Given the description of an element on the screen output the (x, y) to click on. 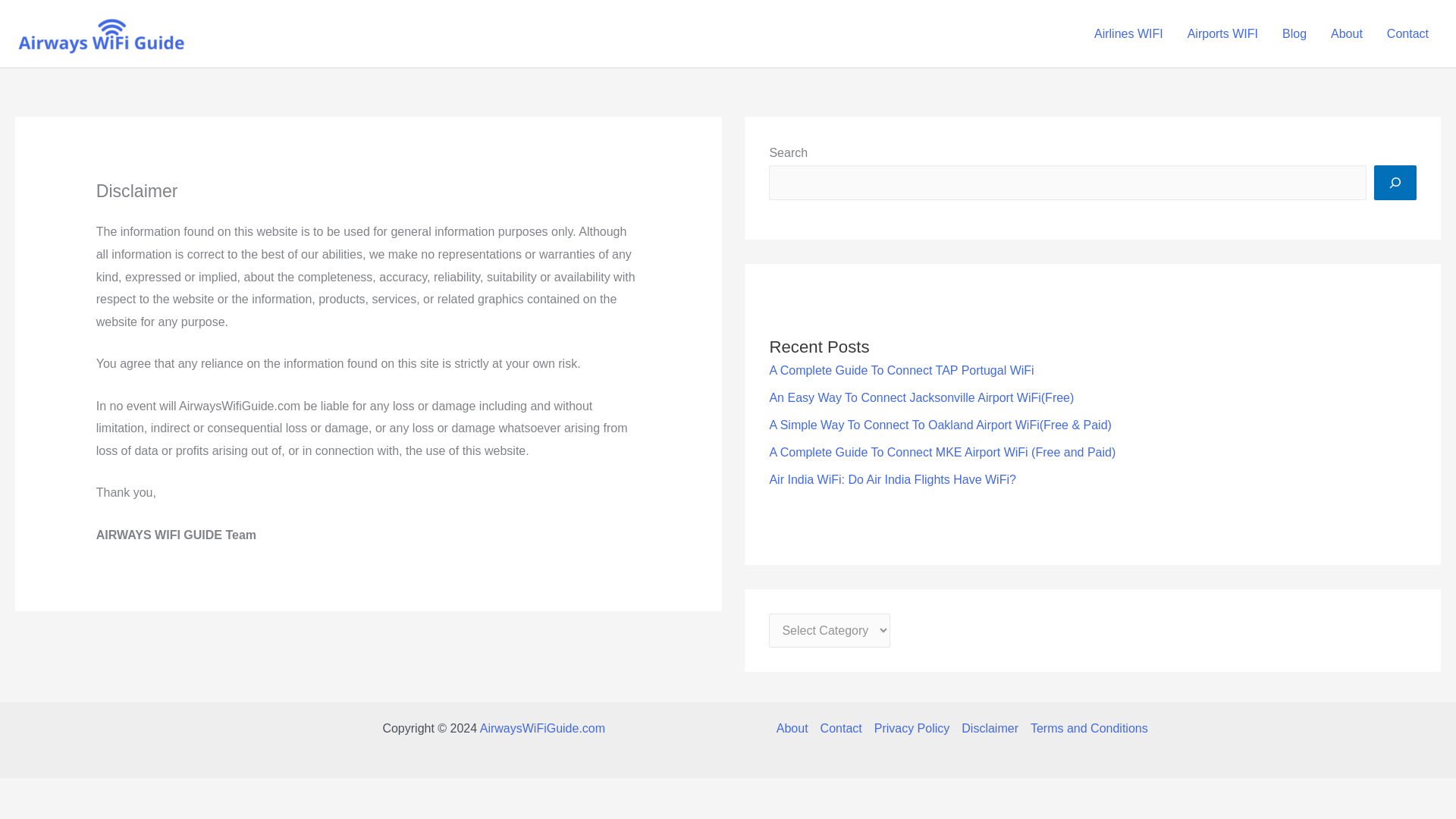
Disclaimer (990, 728)
About (794, 728)
Blog (1294, 33)
Privacy Policy (911, 728)
About (1346, 33)
AirwaysWiFiGuide.com (542, 727)
Air India WiFi: Do Air India Flights Have WiFi? (891, 479)
Contact (840, 728)
Terms and Conditions (1086, 728)
Contact (1407, 33)
A Complete Guide To Connect TAP Portugal WiFi (900, 369)
Airports WIFI (1221, 33)
Airlines WIFI (1127, 33)
